Given the description of an element on the screen output the (x, y) to click on. 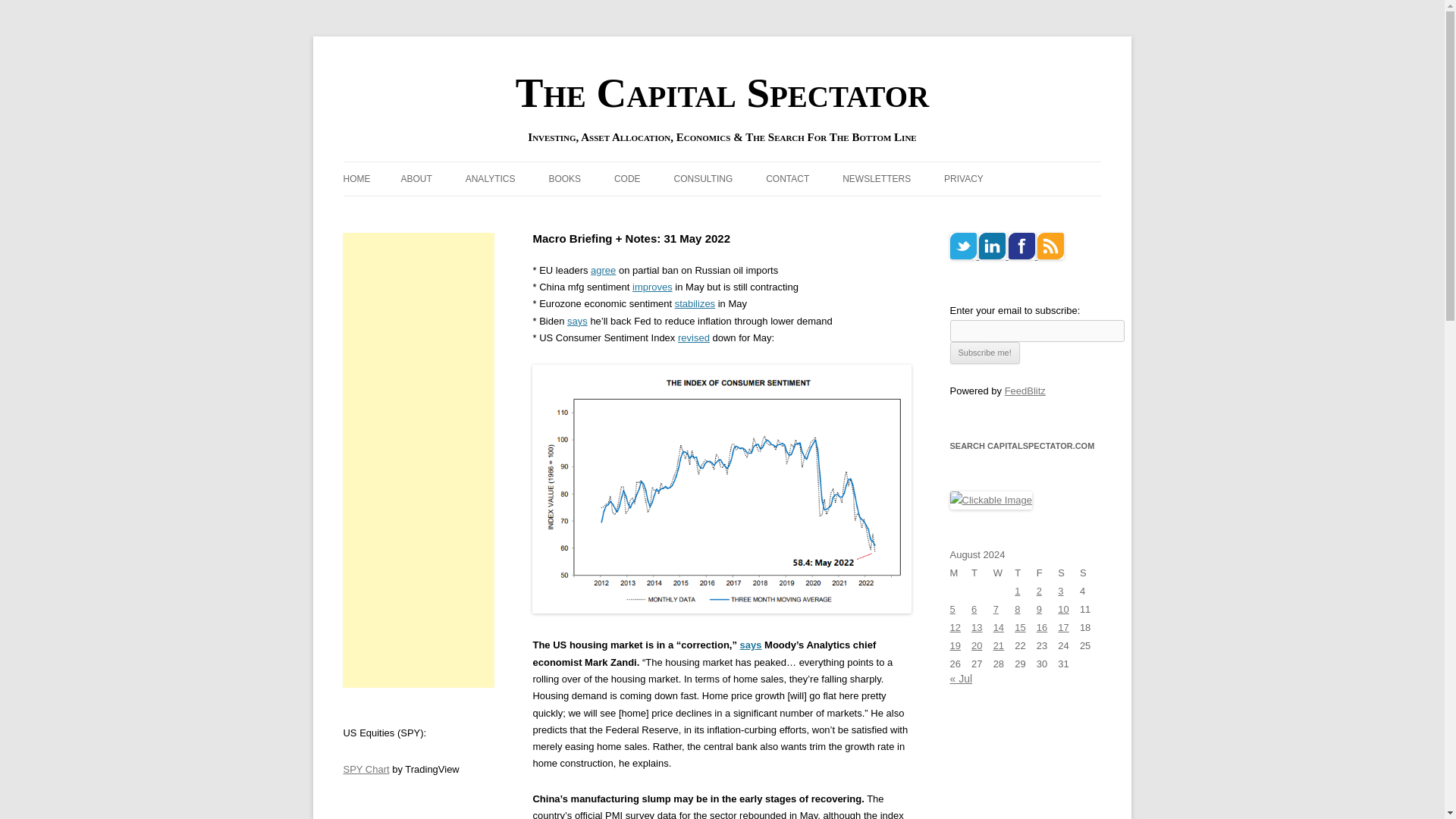
The Capital Spectator (722, 92)
improves (651, 286)
says (577, 320)
ABOUT (415, 178)
FeedBlitz (1024, 390)
Thursday (1025, 573)
PRIVACY (963, 178)
BOOKS (564, 178)
NEWSLETTERS (877, 178)
CONSULTING (702, 178)
